Given the description of an element on the screen output the (x, y) to click on. 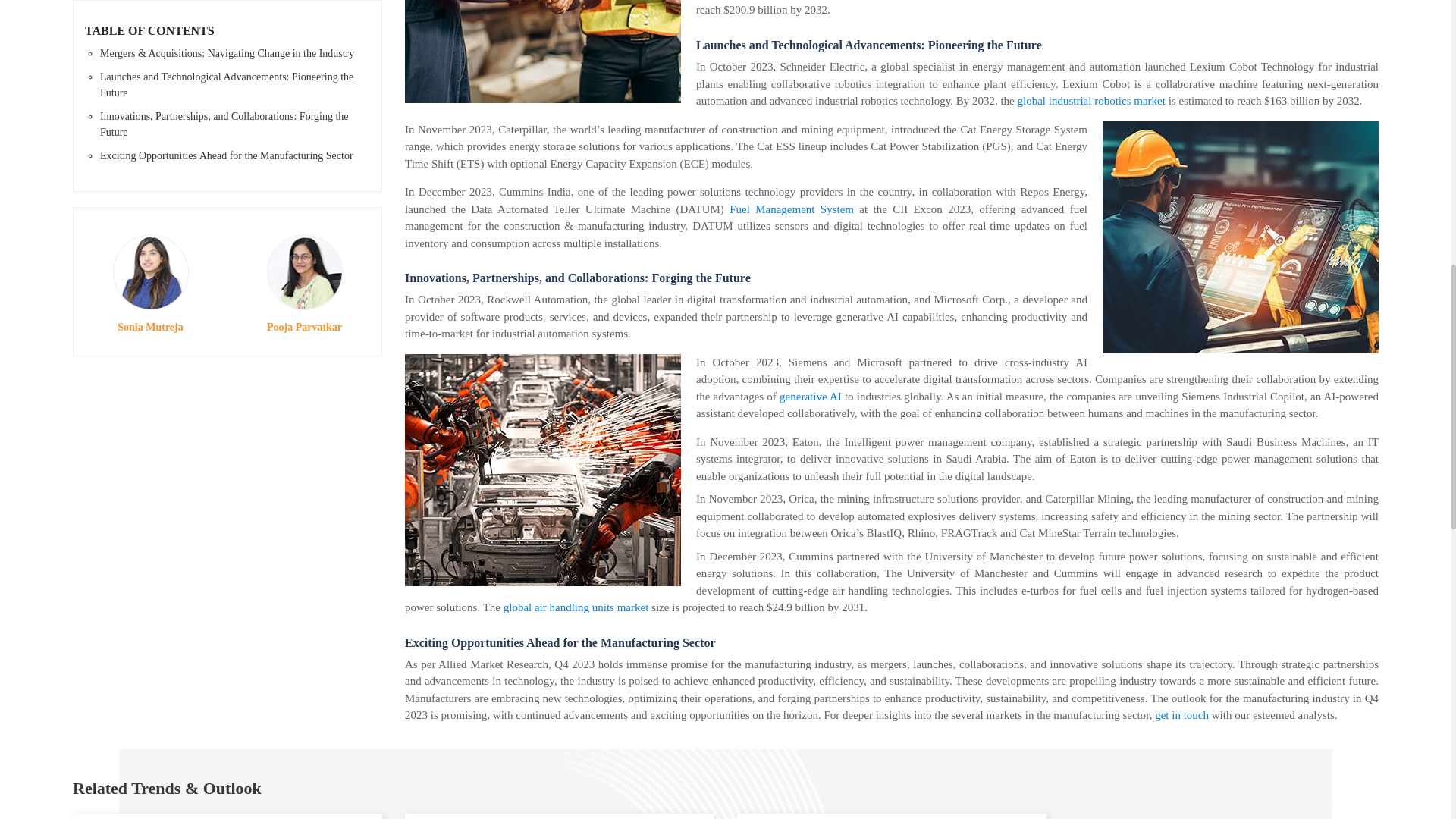
global air handling units market (576, 607)
Fuel Management System (791, 209)
Mergers and Acquisitions (542, 51)
Robotics and Automation (542, 469)
generative AI (809, 396)
global industrial robotics market (1091, 101)
Technological Advancements (1240, 236)
